Given the description of an element on the screen output the (x, y) to click on. 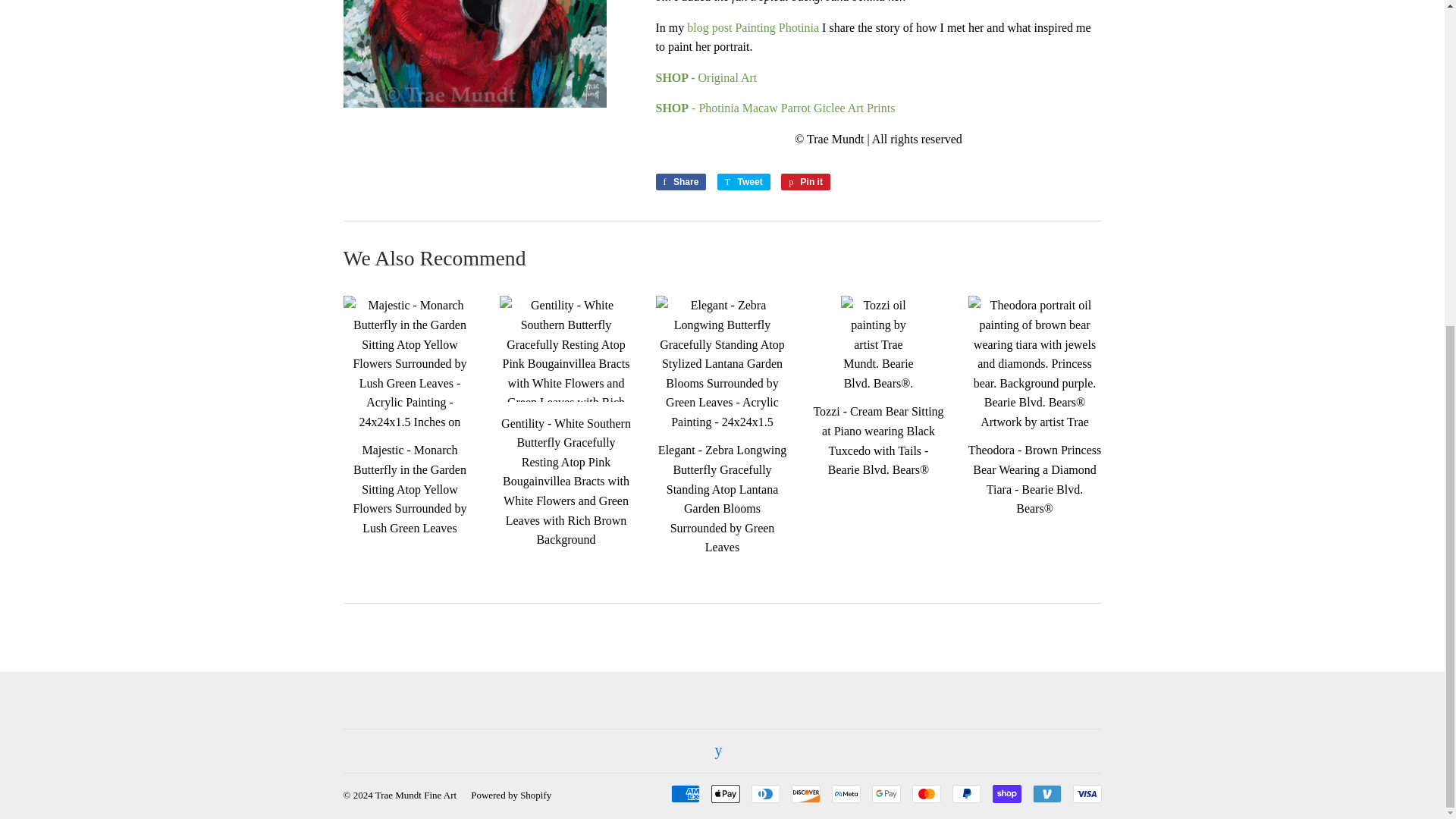
Meta Pay (845, 793)
Shop Pay (1005, 793)
Pin on Pinterest (804, 181)
Tweet on Twitter (743, 181)
Diners Club (764, 793)
Visa (1085, 793)
Discover (806, 793)
Share on Facebook (680, 181)
Venmo (1046, 793)
Apple Pay (725, 793)
